Given the description of an element on the screen output the (x, y) to click on. 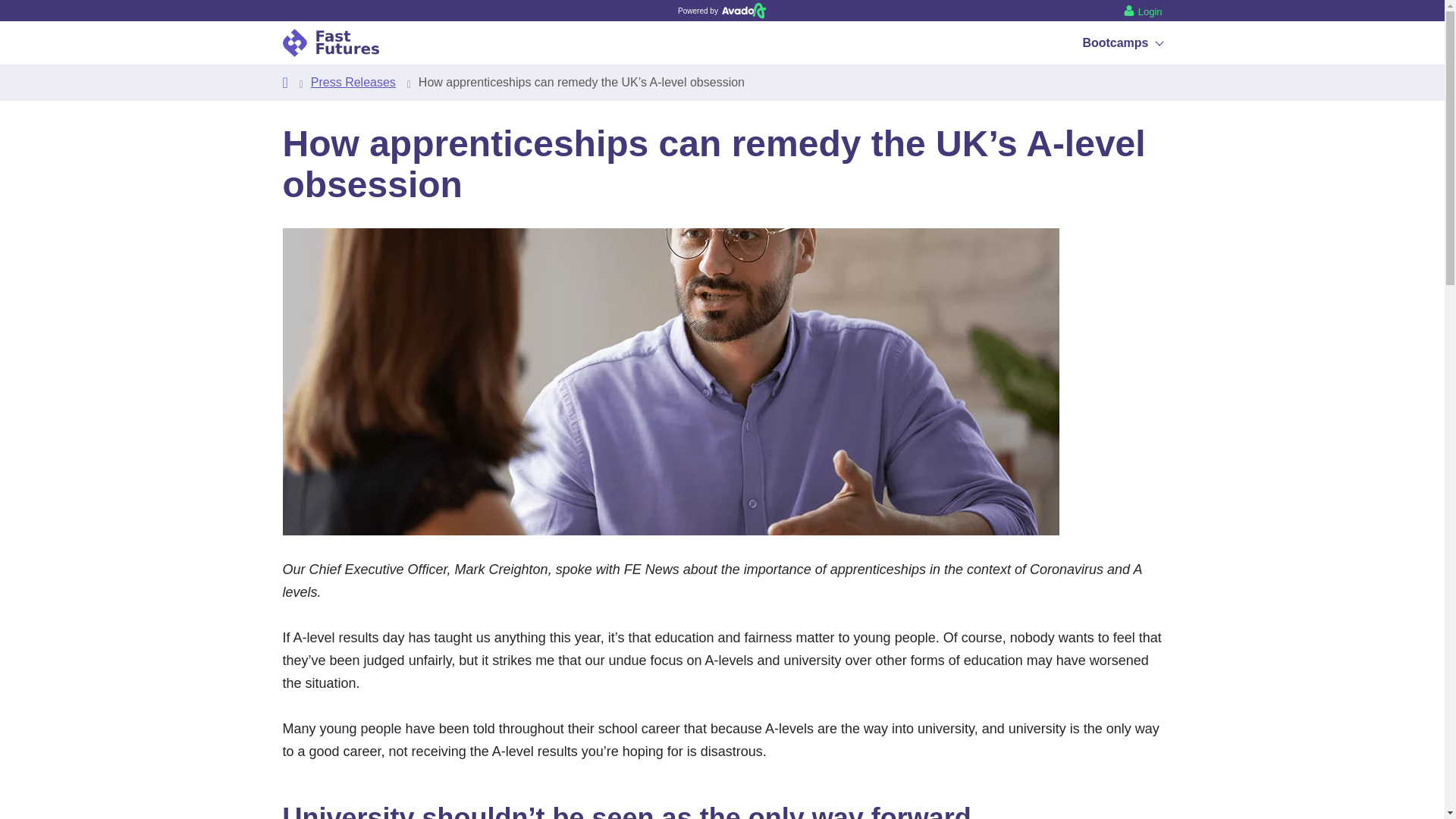
Press Releases (353, 82)
Bootcamps (1121, 42)
Login (1142, 9)
